Given the description of an element on the screen output the (x, y) to click on. 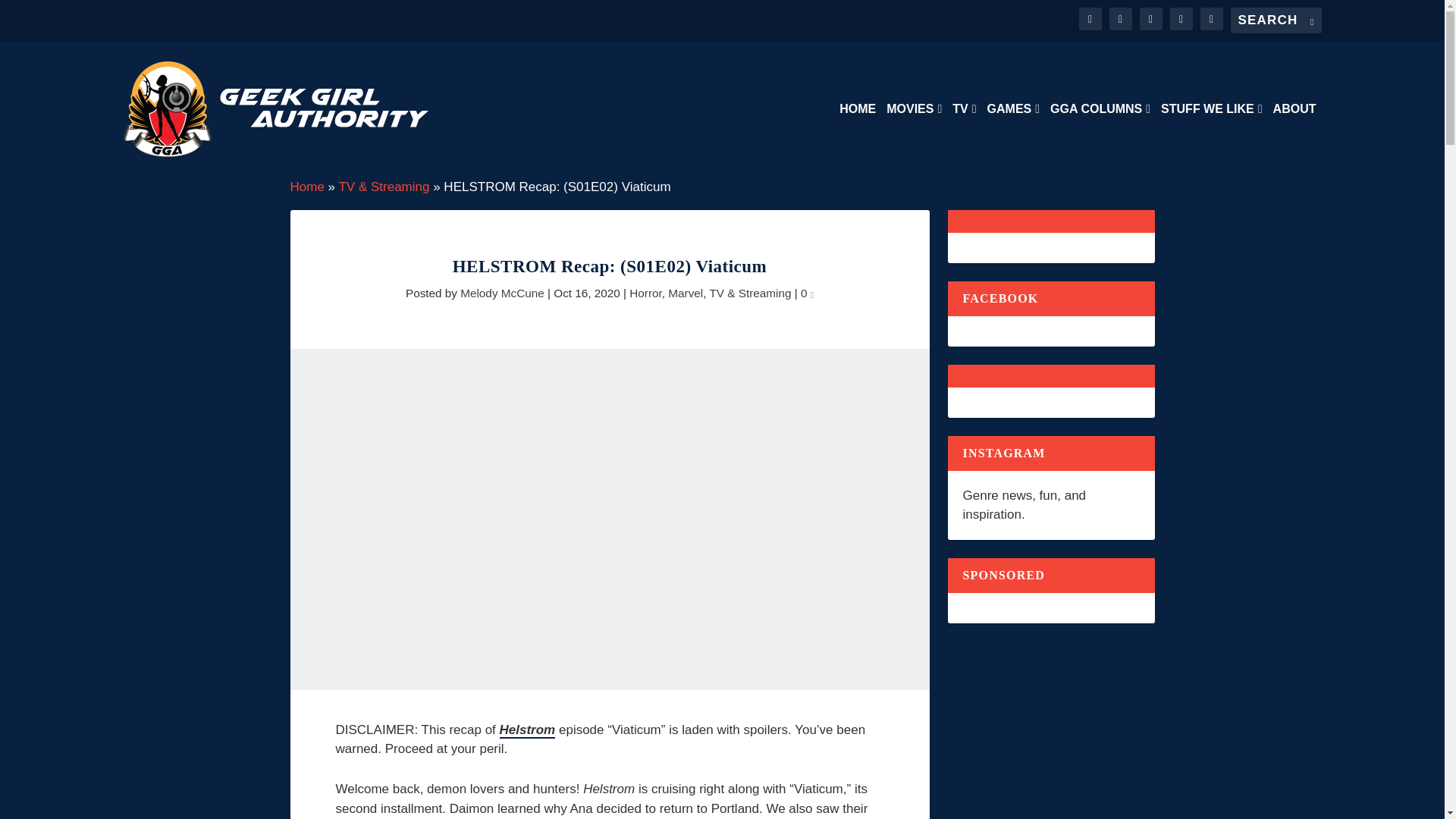
Posts by Melody McCune (502, 292)
Search for: (1275, 20)
GGA COLUMNS (1099, 140)
